Given the description of an element on the screen output the (x, y) to click on. 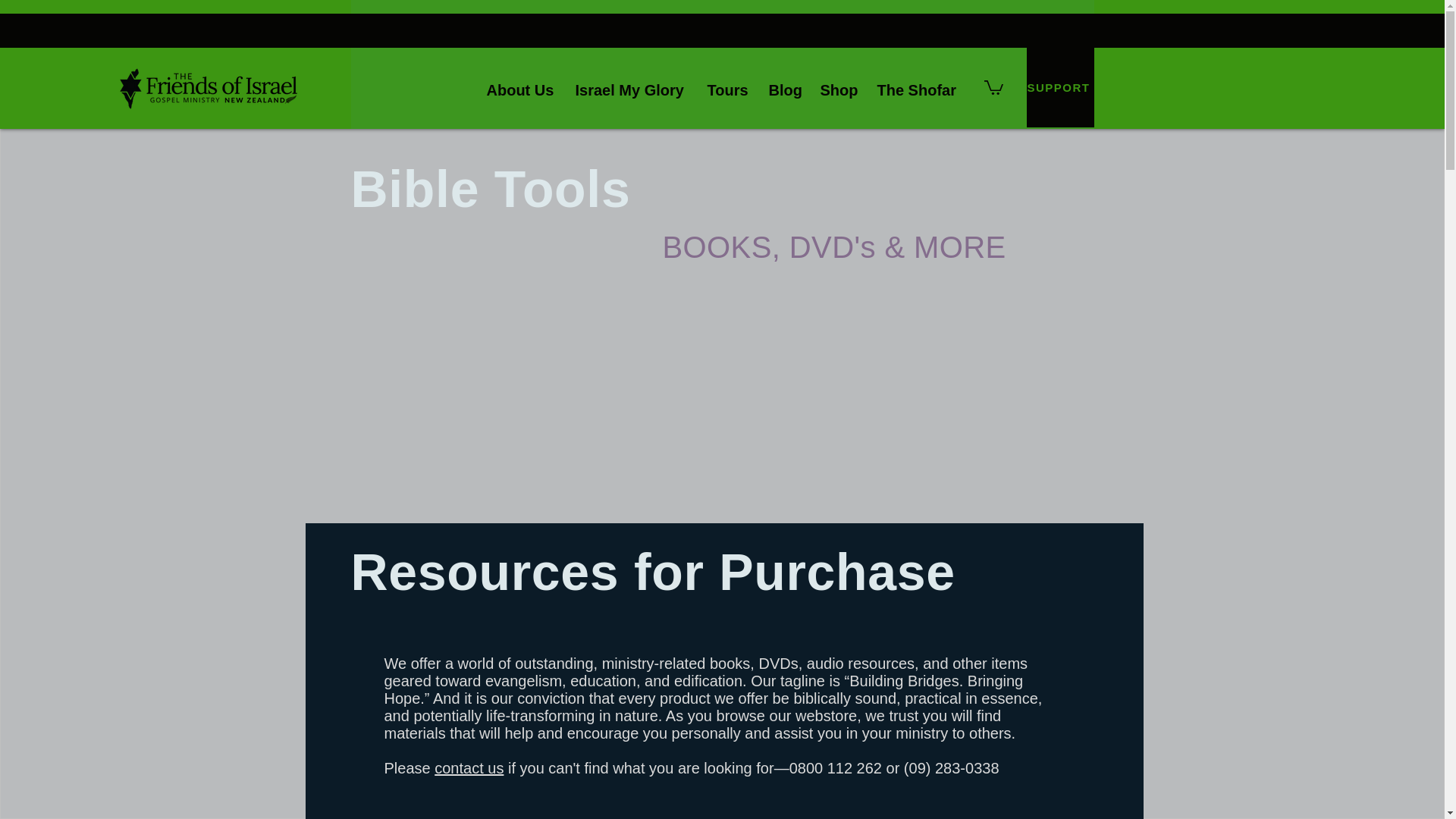
The Shofar (917, 83)
contact us (468, 768)
Israel My Glory (631, 83)
About Us (520, 83)
